Given the description of an element on the screen output the (x, y) to click on. 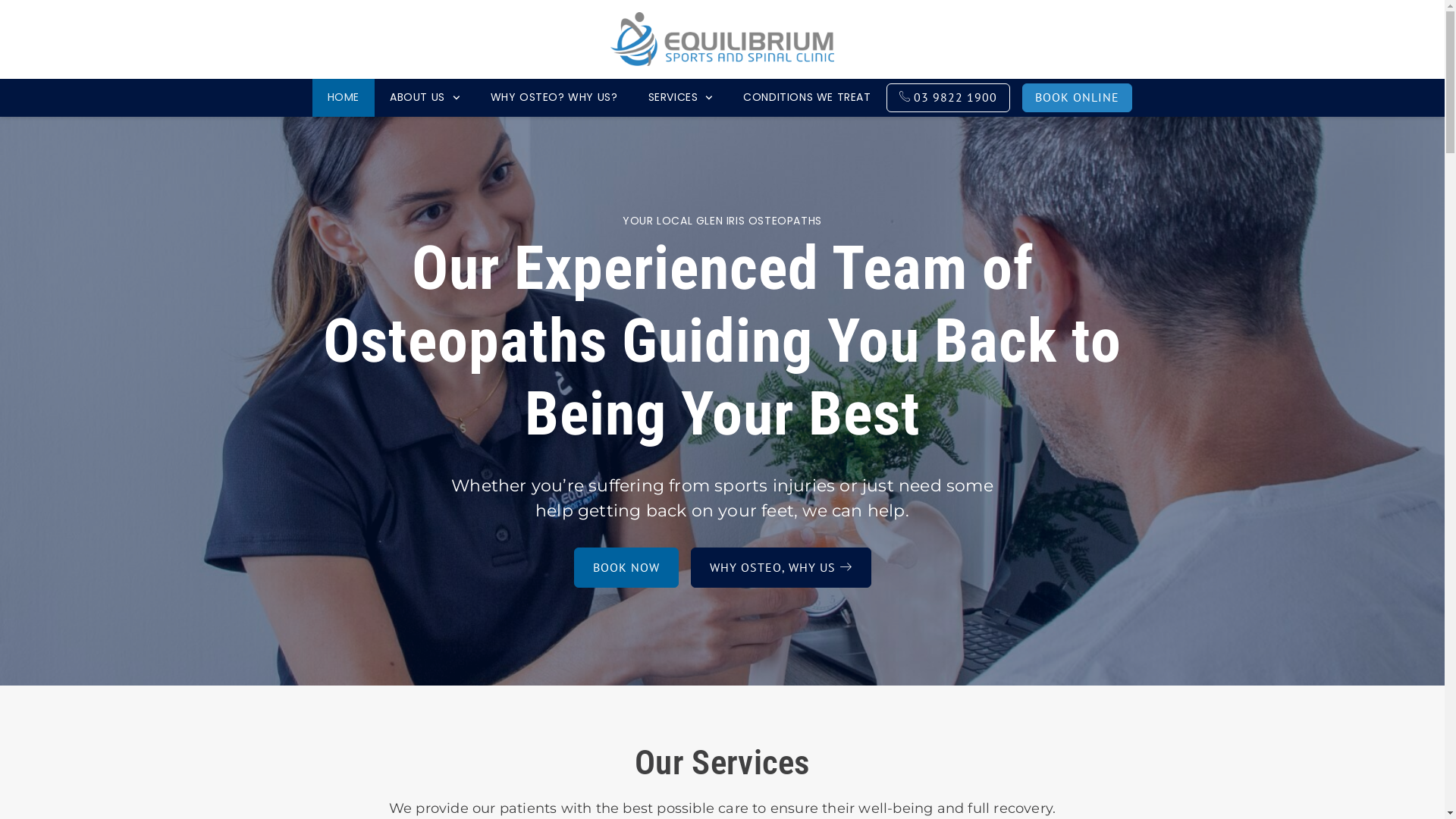
03 9822 1900 Element type: text (948, 97)
ABOUT US Element type: text (424, 97)
BOOK ONLINE Element type: text (1077, 97)
WHY OSTEO? WHY US? Element type: text (554, 97)
SERVICES Element type: text (680, 97)
WHY OSTEO, WHY US Element type: text (780, 567)
CONDITIONS WE TREAT Element type: text (806, 97)
HOME Element type: text (343, 97)
BOOK NOW Element type: text (625, 567)
